Given the description of an element on the screen output the (x, y) to click on. 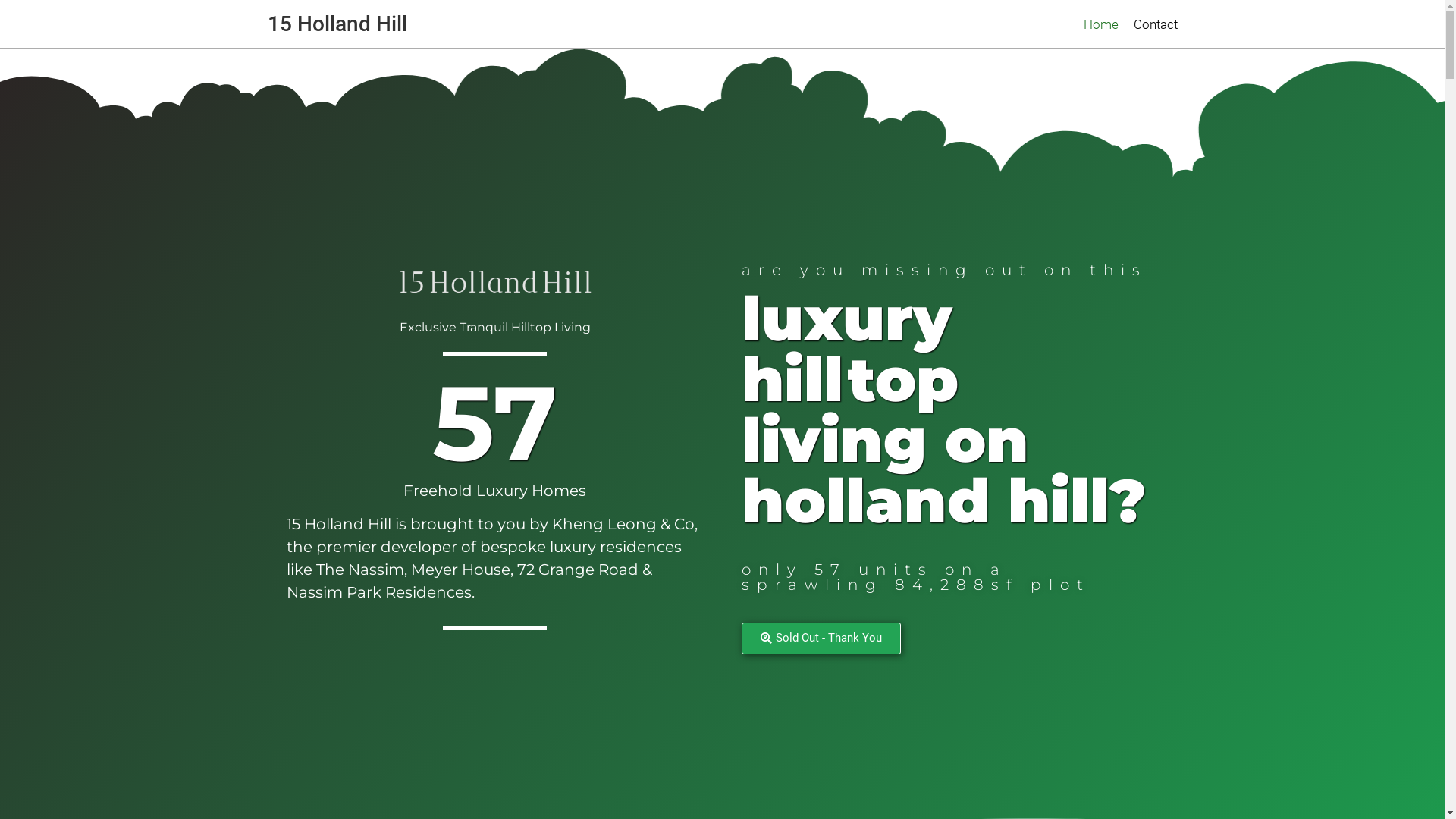
Home Element type: text (1099, 23)
Sold Out - Thank You Element type: text (820, 637)
Meyer House Element type: text (460, 569)
Contact Element type: text (1154, 23)
15 Holland Hill Element type: text (336, 22)
